Given the description of an element on the screen output the (x, y) to click on. 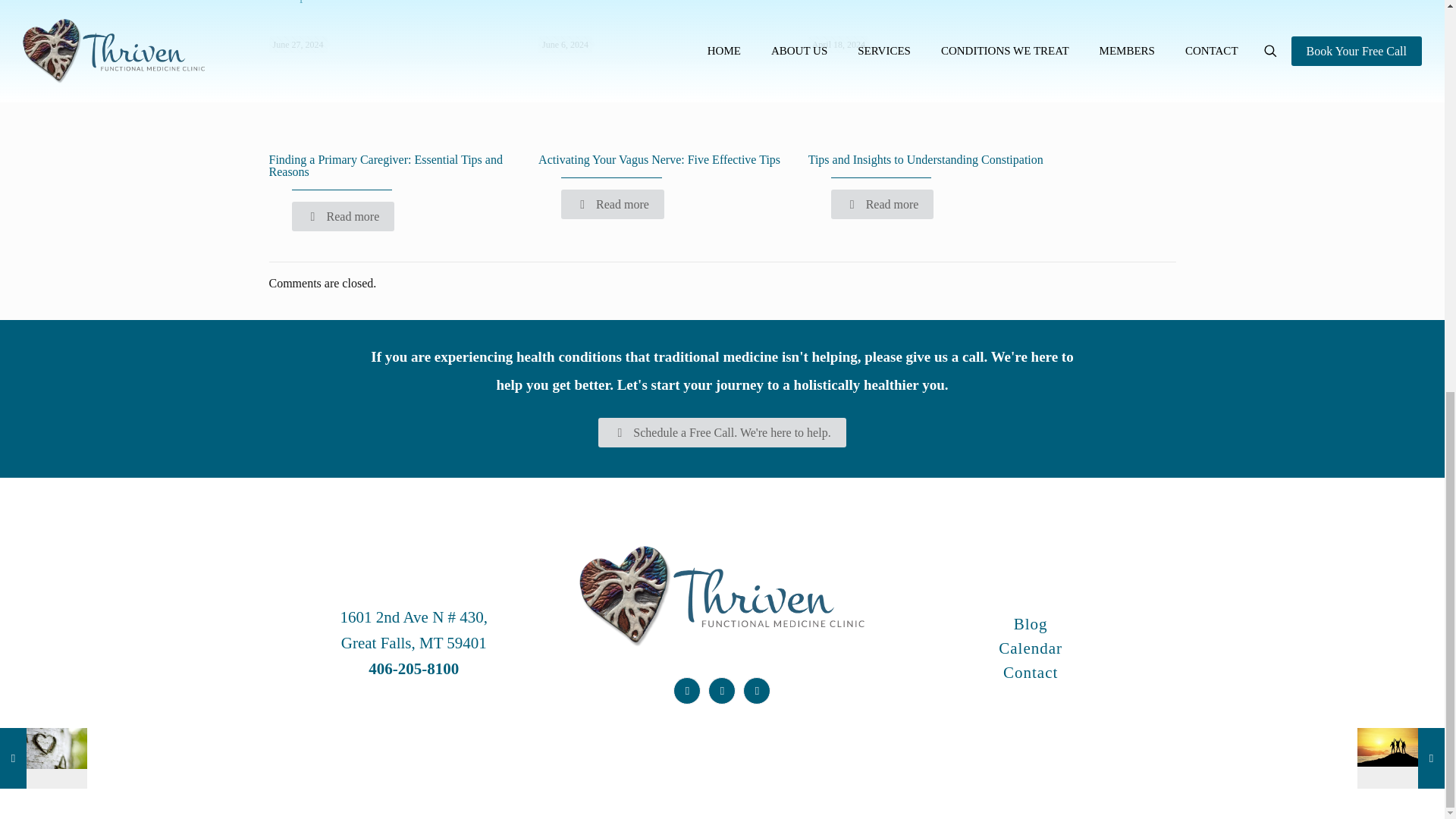
Schedule a Free Call (721, 432)
